Given the description of an element on the screen output the (x, y) to click on. 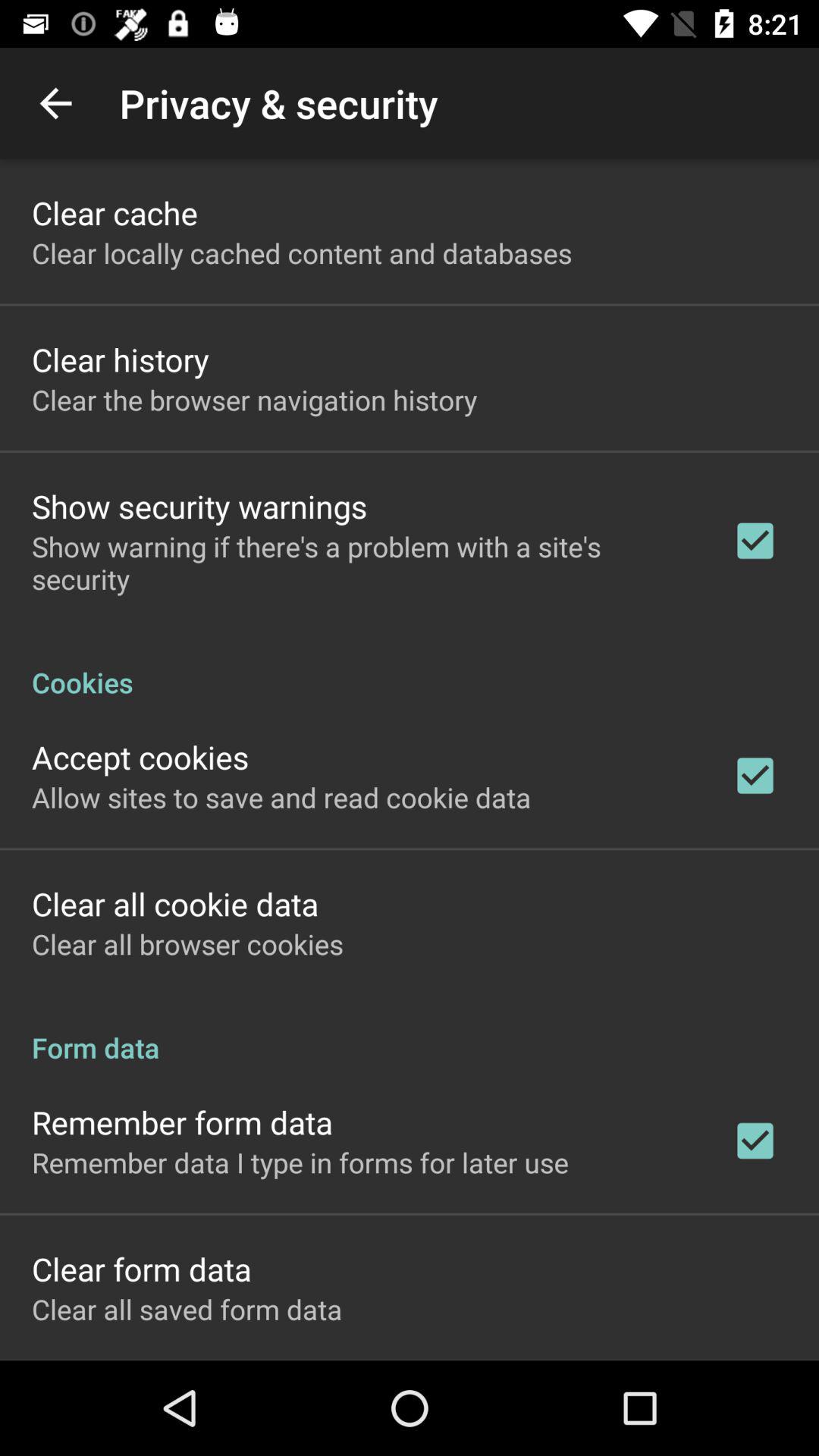
press the icon above clear all cookie icon (281, 797)
